Given the description of an element on the screen output the (x, y) to click on. 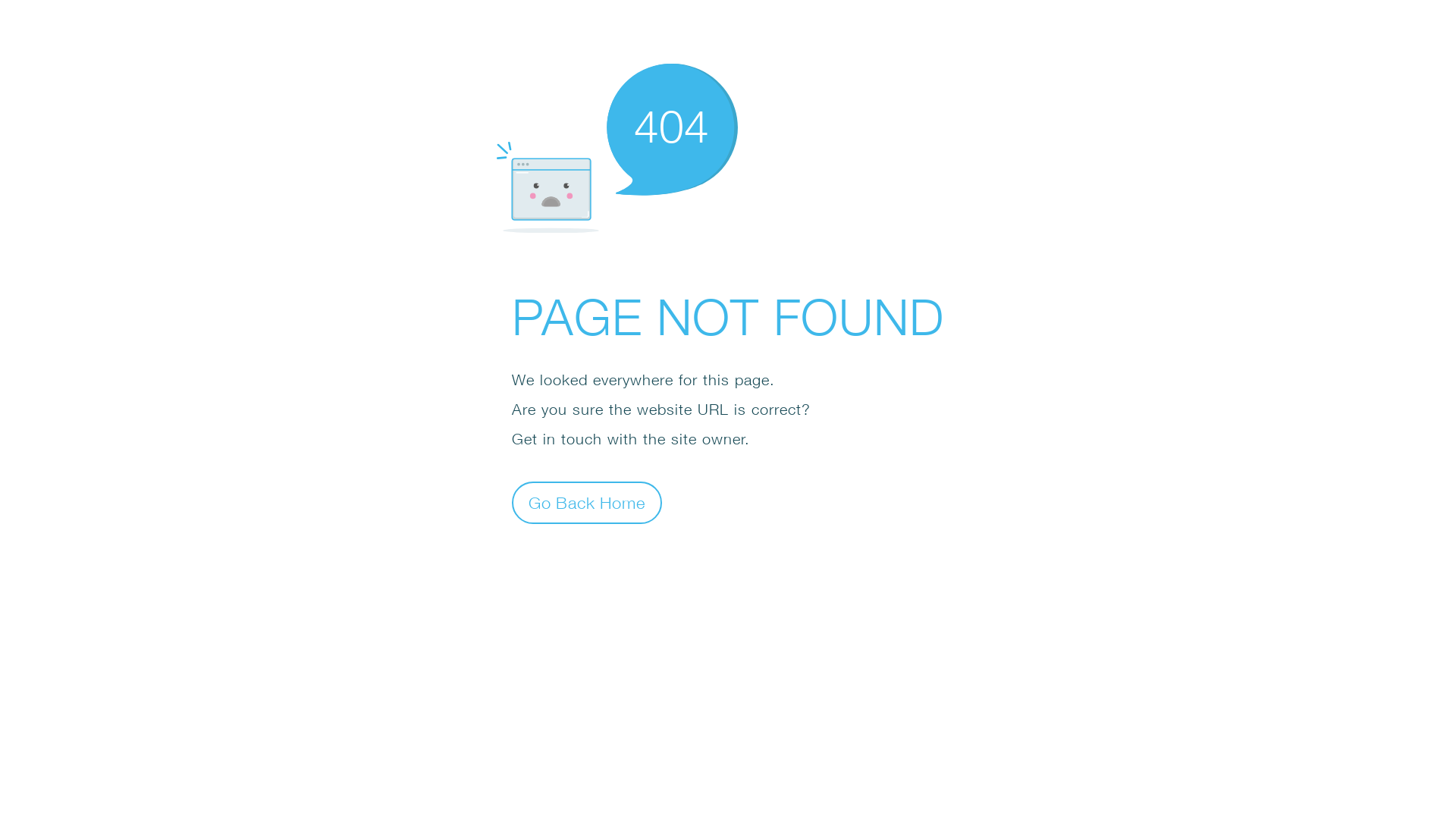
Go Back Home Element type: text (586, 502)
